Given the description of an element on the screen output the (x, y) to click on. 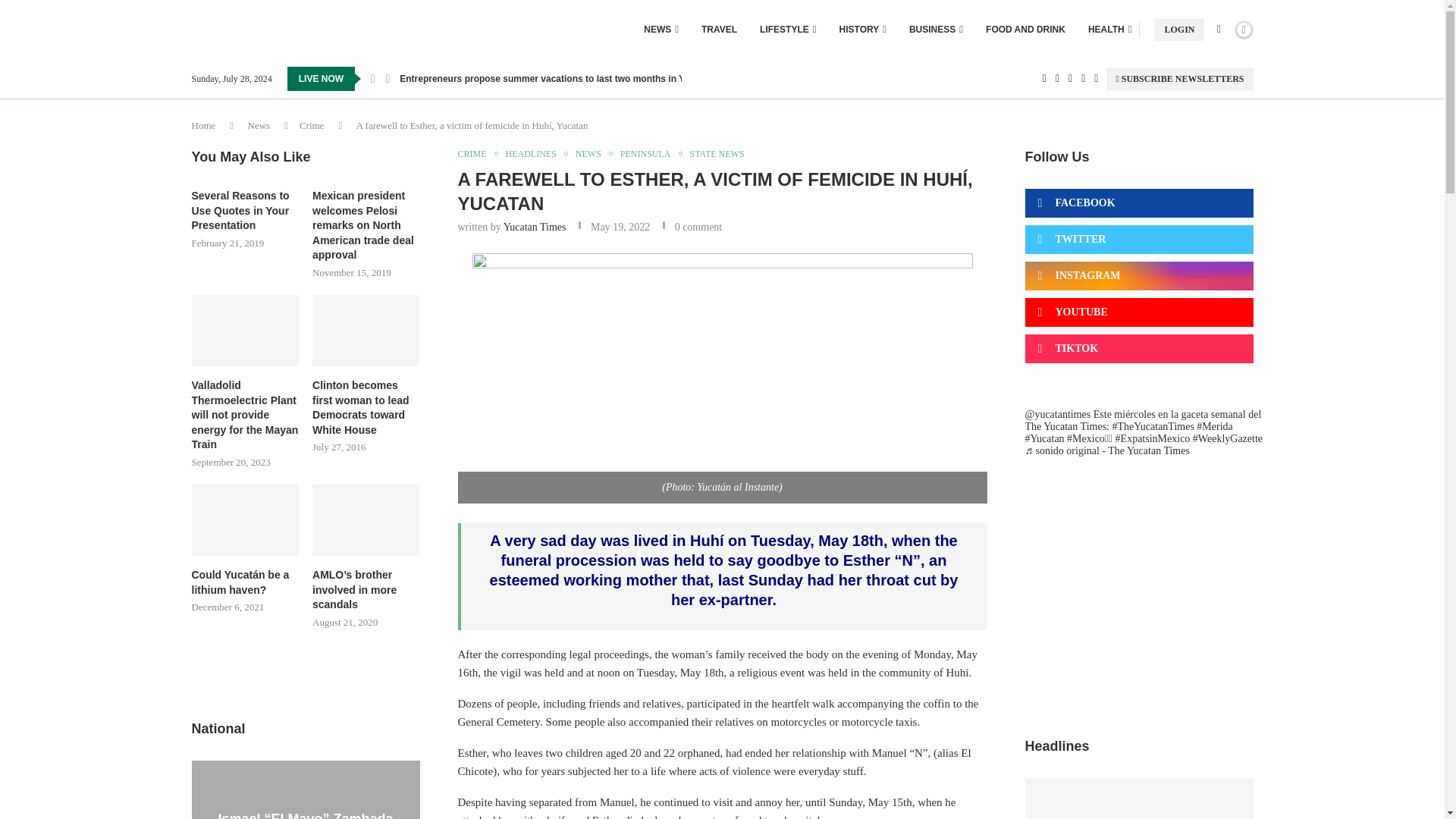
TRAVEL (718, 29)
LIFESTYLE (787, 29)
NEWS (660, 29)
